Given the description of an element on the screen output the (x, y) to click on. 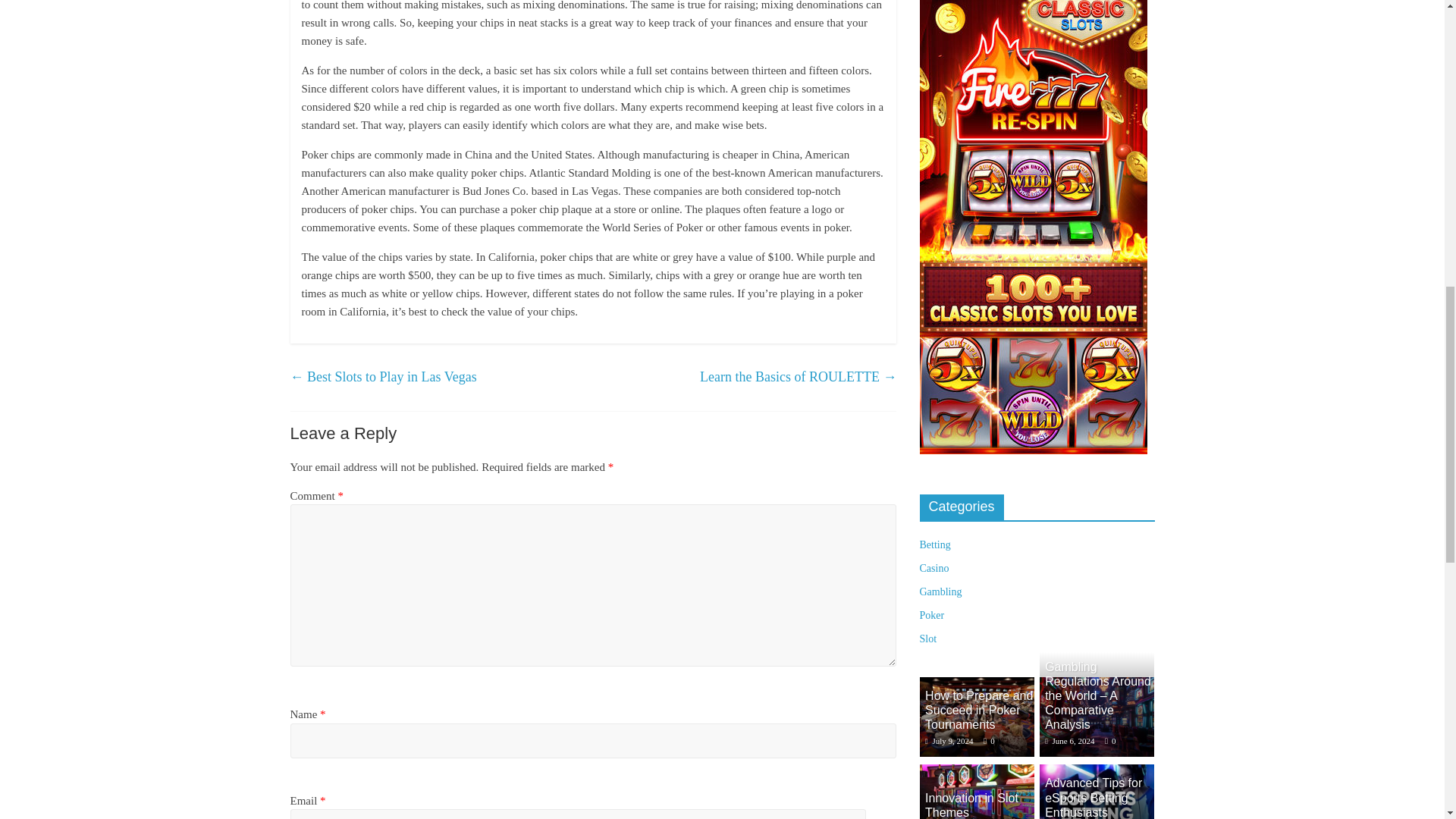
Gambling (939, 591)
How to Prepare and Succeed in Poker Tournaments (978, 710)
Casino (933, 568)
Slot (927, 638)
Betting (934, 544)
Innovation in Slot Themes (970, 805)
Innovation in Slot Themes (975, 791)
7:40 am (1069, 740)
Poker (930, 614)
July 9, 2024 (949, 740)
Innovation in Slot Themes (970, 805)
7:44 am (949, 740)
How to Prepare and Succeed in Poker Tournaments (975, 716)
Innovation in Slot Themes (975, 772)
How to Prepare and Succeed in Poker Tournaments (978, 710)
